Given the description of an element on the screen output the (x, y) to click on. 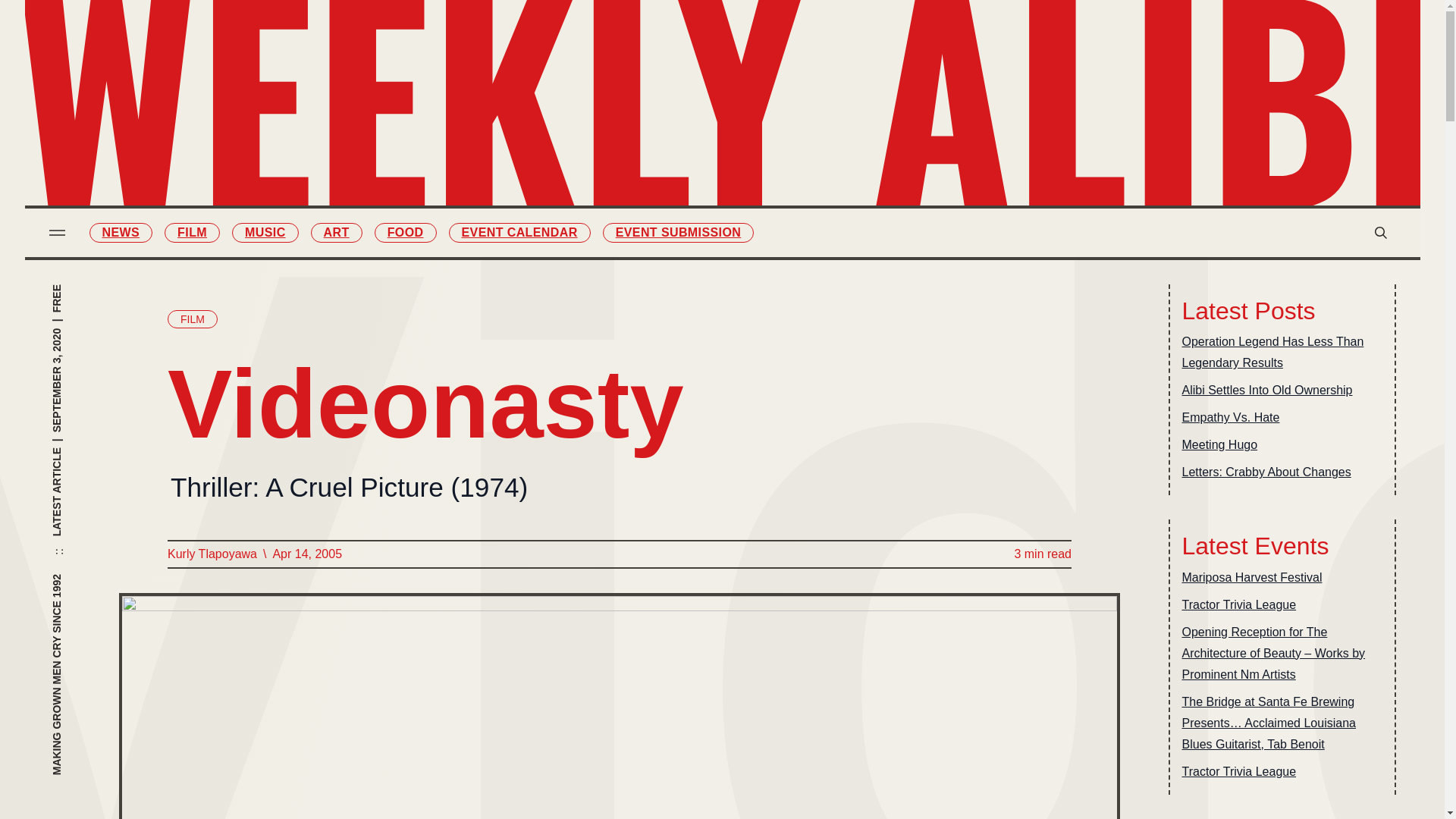
BOOK REVIEWS (803, 83)
MUSIC (640, 115)
MUSIC (264, 232)
EVENT SUBMISSION (803, 178)
EVENTS (803, 147)
ART (336, 232)
EVENT CALENDAR (519, 232)
CANNABIS (640, 210)
Kurly Tlapoyawa (211, 554)
FOOD (405, 232)
NEWS (120, 232)
EVENT SUBMISSION (678, 232)
BUSINESS (803, 115)
FILM (191, 232)
ART (640, 147)
